Given the description of an element on the screen output the (x, y) to click on. 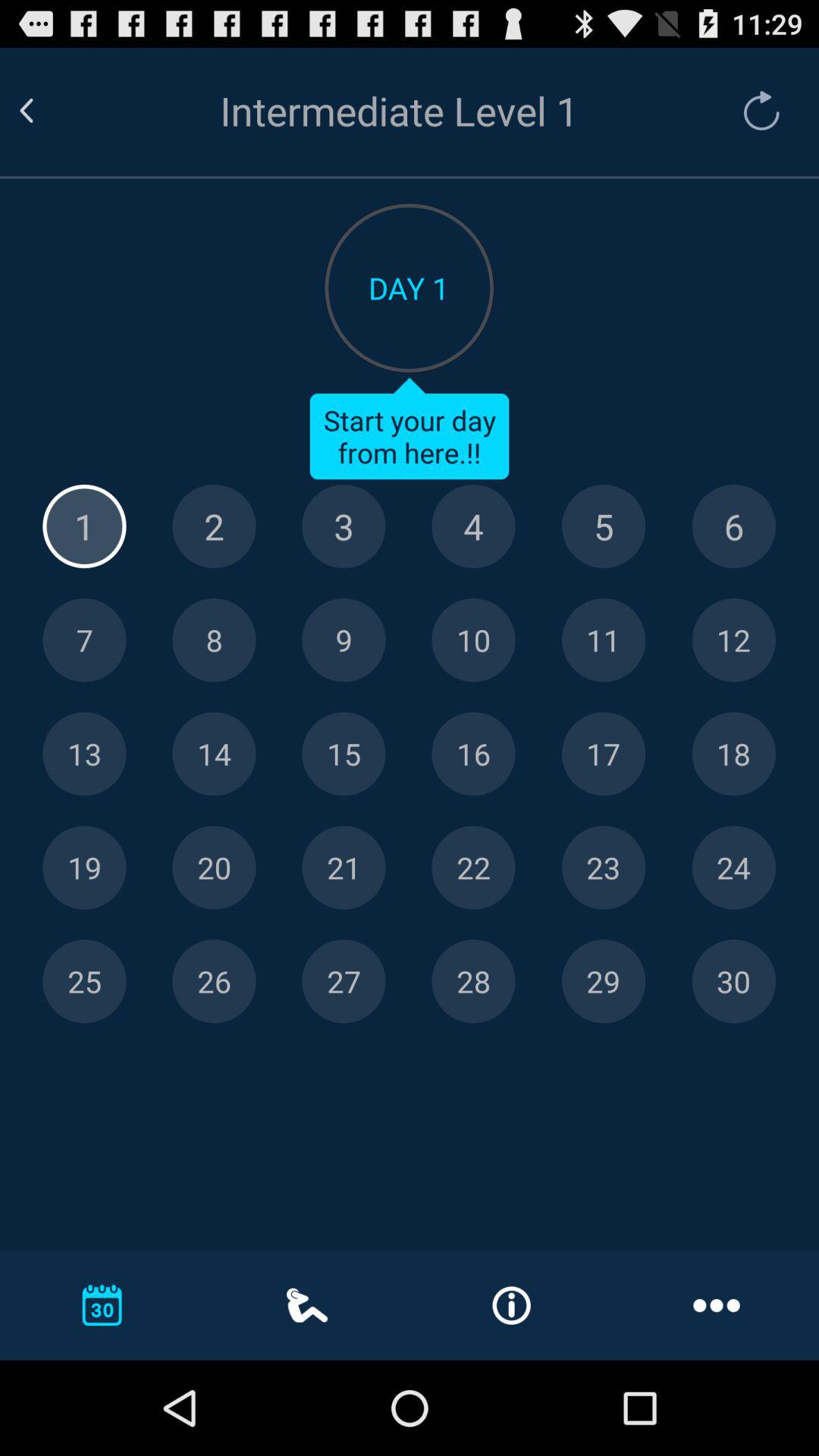
day (84, 867)
